Given the description of an element on the screen output the (x, y) to click on. 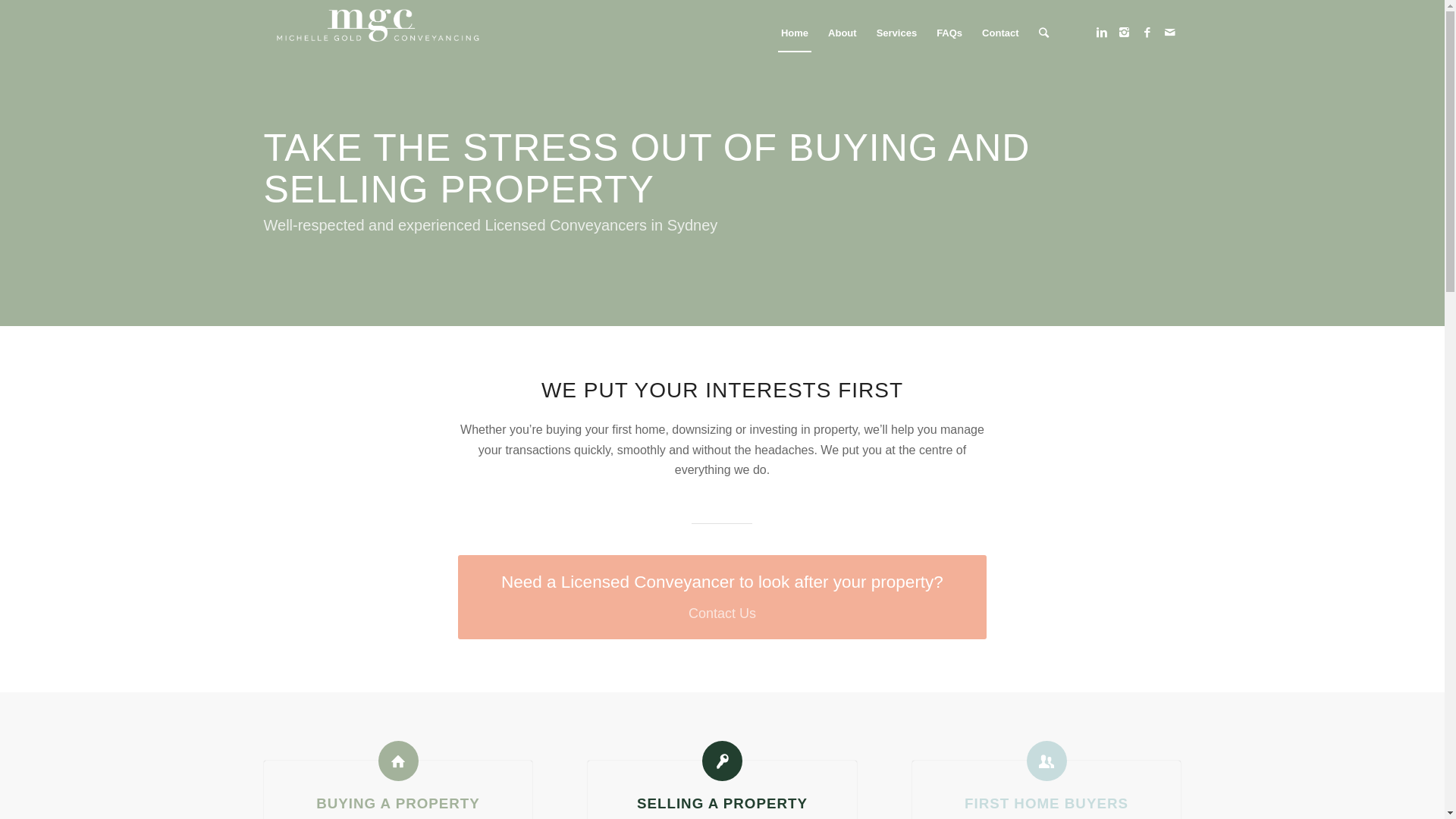
BUYING A PROPERTY Element type: text (398, 803)
Instagram Element type: hover (1124, 32)
FIRST HOME BUYERS Element type: text (1046, 803)
SELLING A PROPERTY Element type: text (722, 803)
Services Element type: text (896, 33)
Facebook Element type: hover (1146, 32)
Selling a property  Element type: hover (722, 760)
Contact Element type: text (1000, 33)
Home Element type: text (794, 33)
FAQs Element type: text (949, 33)
First home buyers Element type: hover (1046, 760)
Mail Element type: hover (1169, 32)
Linkedin Element type: hover (1101, 32)
About Element type: text (842, 33)
Buying a property Element type: hover (398, 760)
